Given the description of an element on the screen output the (x, y) to click on. 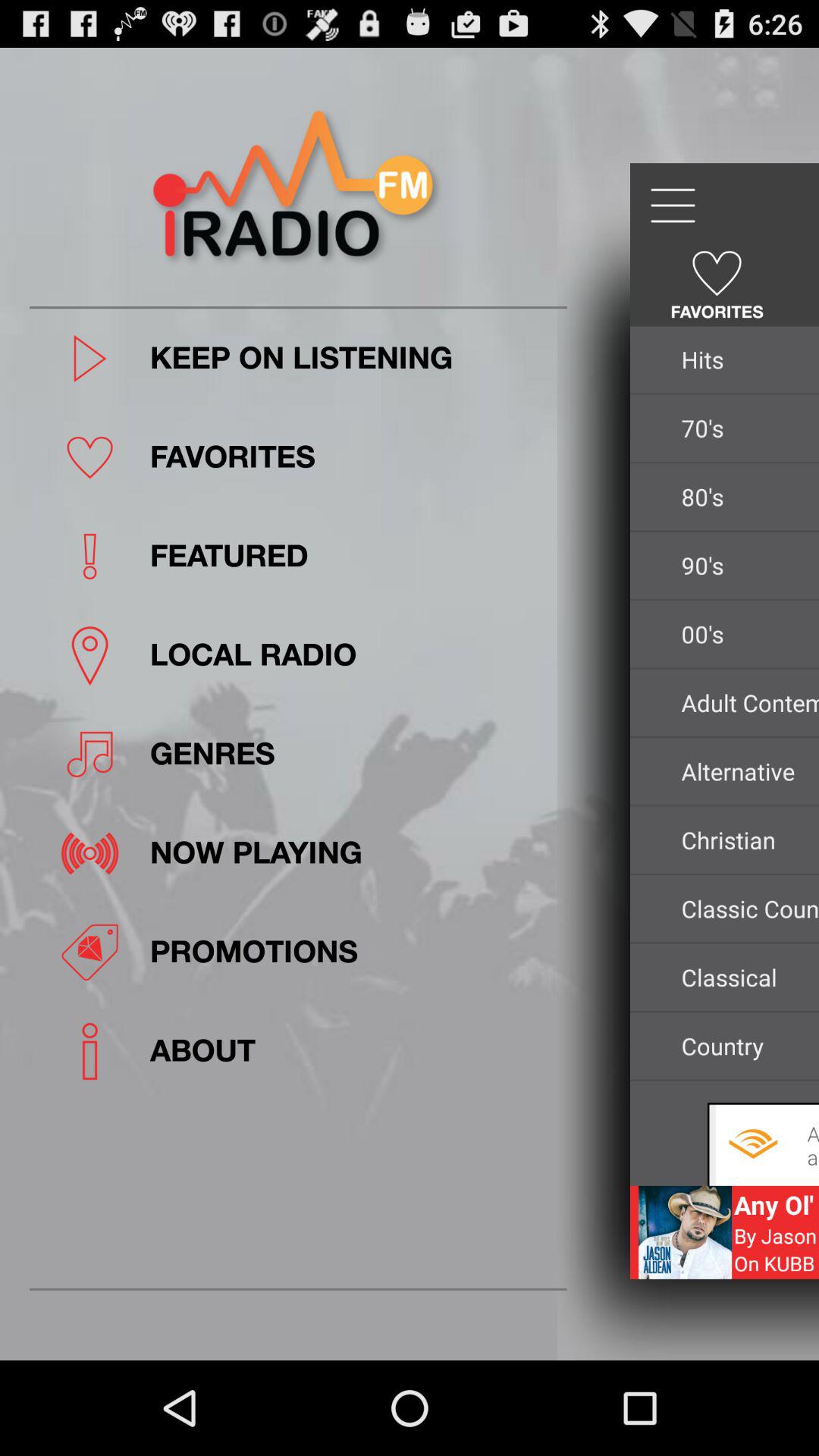
launch app below classic country icon (745, 977)
